Given the description of an element on the screen output the (x, y) to click on. 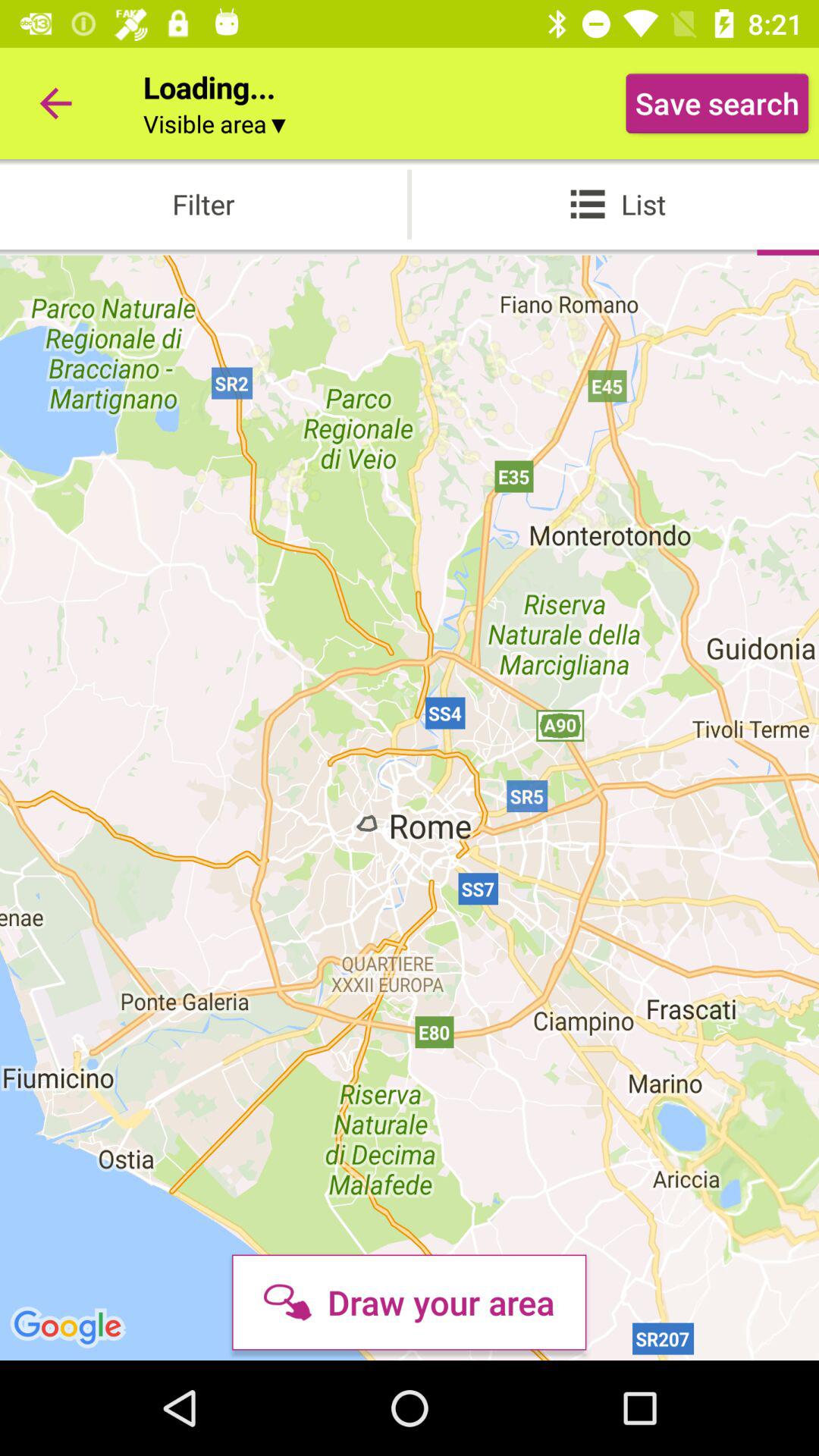
click the icon to the right of loading... (717, 103)
